Given the description of an element on the screen output the (x, y) to click on. 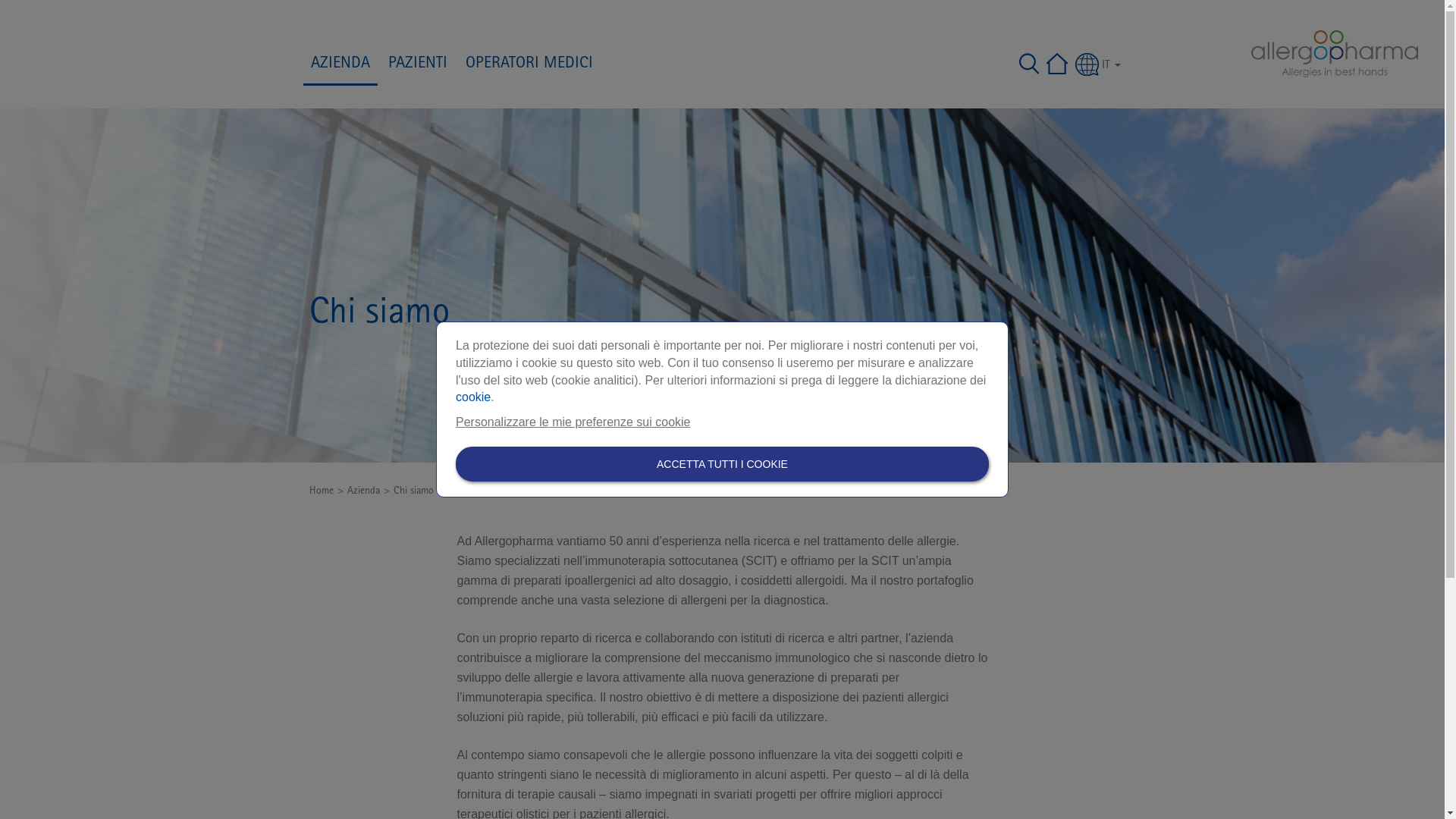
OPERATORI MEDICI Element type: text (529, 64)
Chi siamo Element type: text (412, 491)
PAZIENTI Element type: text (417, 64)
Azienda Element type: text (363, 491)
AZIENDA Element type: text (340, 65)
ACCETTA TUTTI I COOKIE Element type: text (721, 463)
cookie Element type: text (472, 396)
Home Element type: text (321, 491)
